Given the description of an element on the screen output the (x, y) to click on. 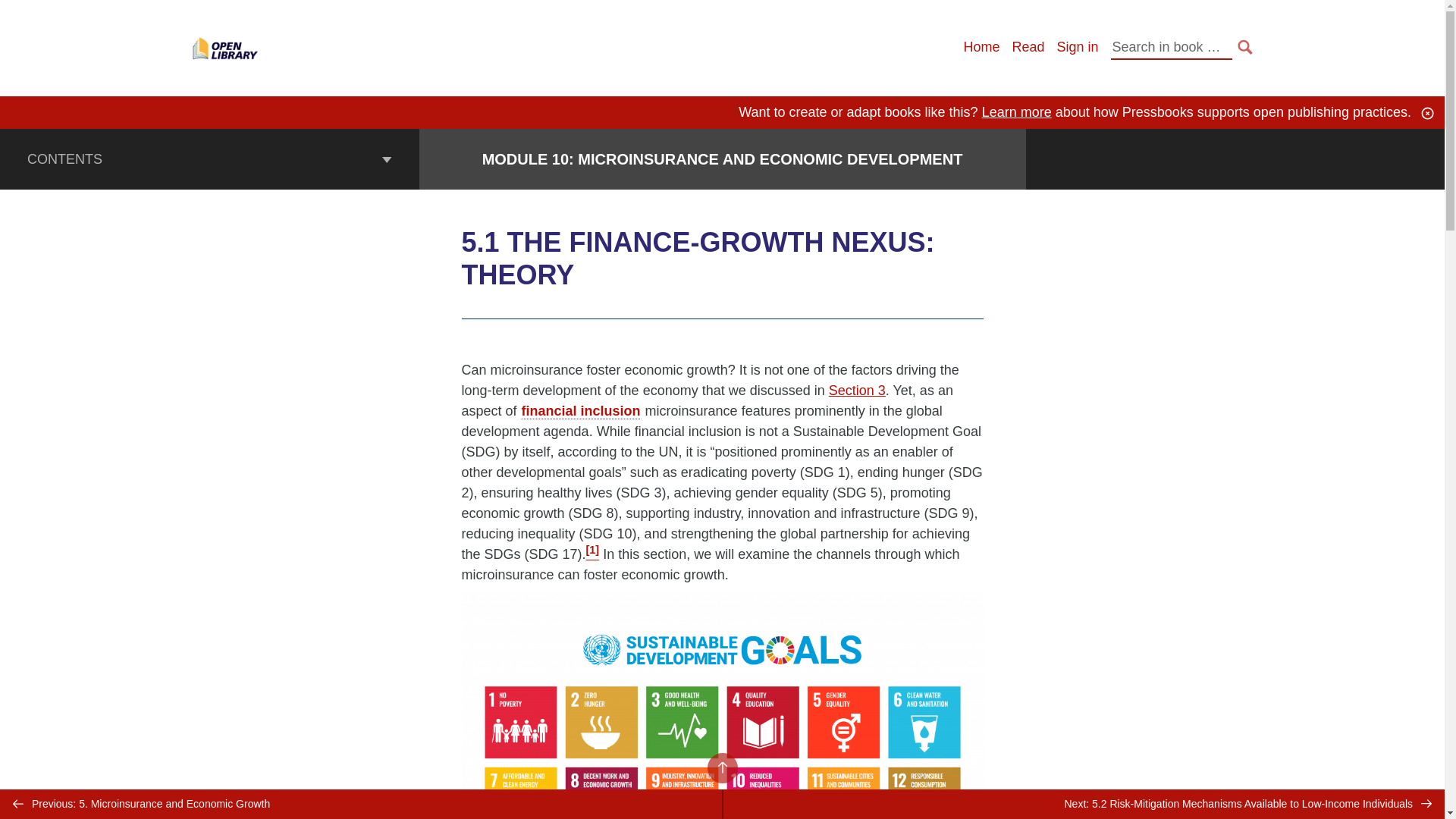
Home (980, 46)
financial inclusion (581, 410)
Read (1027, 46)
Learn more (1016, 111)
BACK TO TOP (721, 767)
Sign in (1077, 46)
Previous: 5. Microinsurance and Economic Growth (361, 804)
Previous: 5. Microinsurance and Economic Growth (361, 804)
Section 3 (856, 390)
MODULE 10: MICROINSURANCE AND ECONOMIC DEVELOPMENT (721, 159)
